Given the description of an element on the screen output the (x, y) to click on. 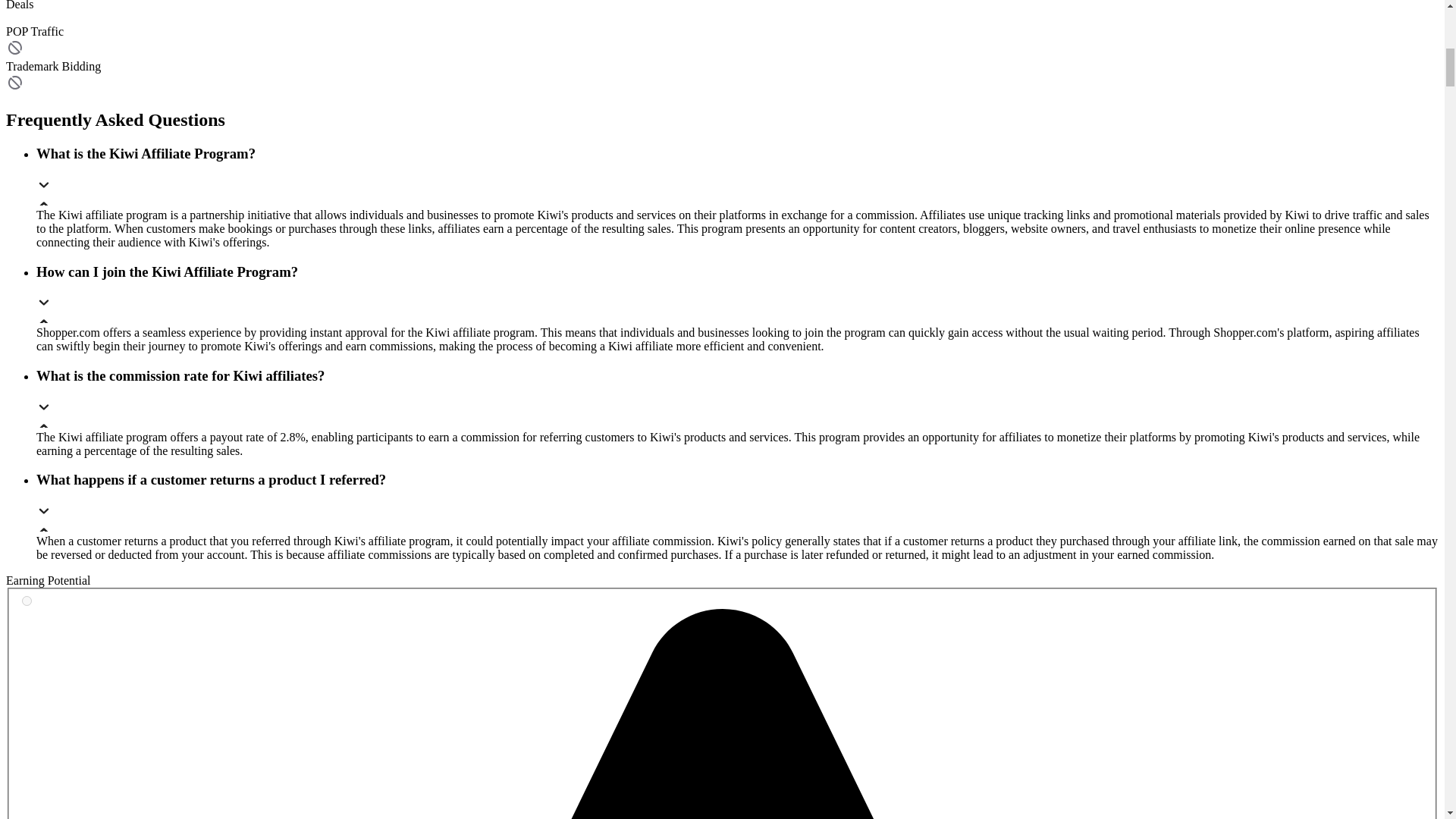
5 (26, 601)
